Given the description of an element on the screen output the (x, y) to click on. 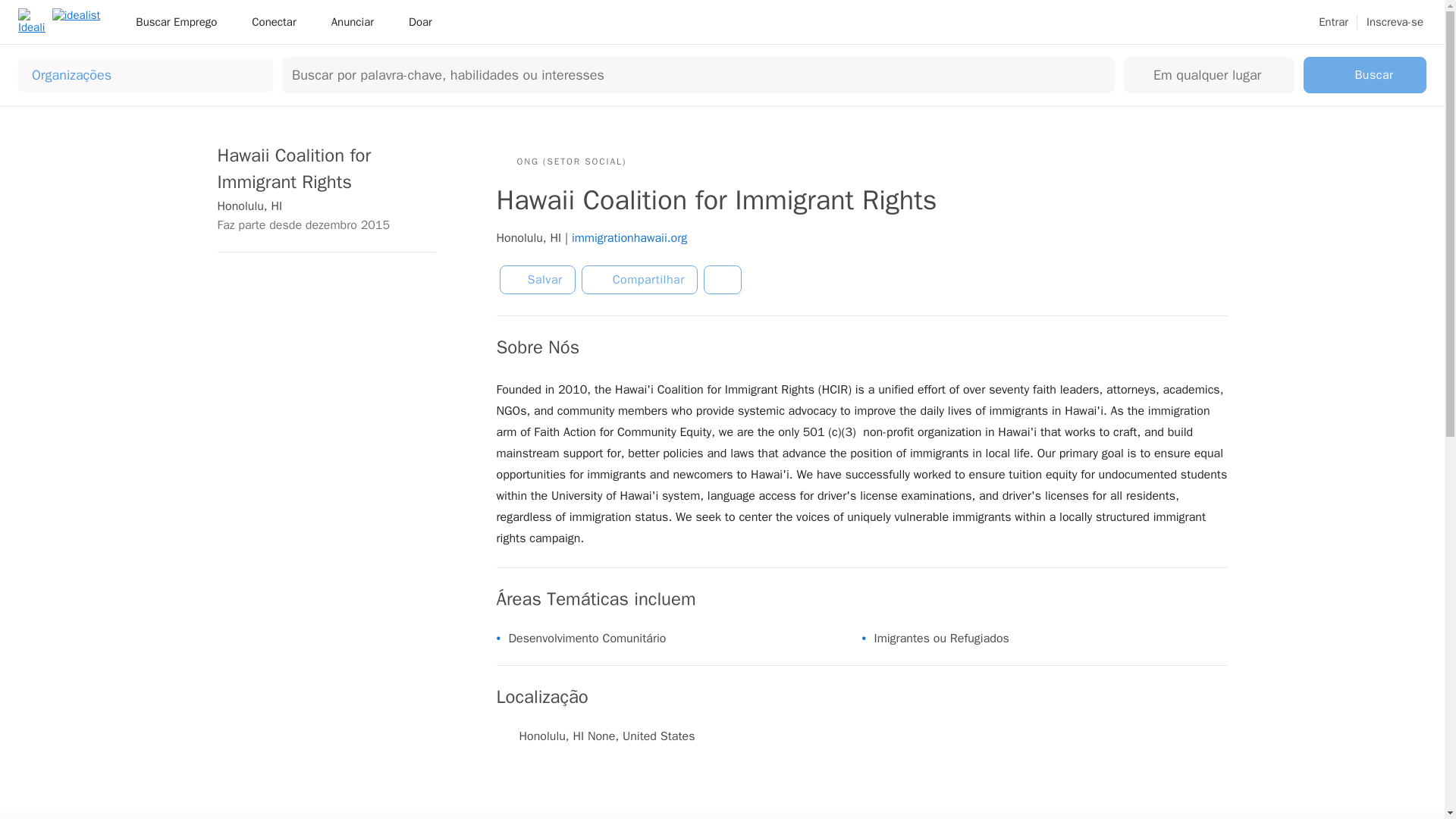
Doar (419, 21)
Inscreva-se (1394, 22)
immigrationhawaii.org (629, 237)
Salvar (537, 279)
Compartilhar (638, 279)
Buscar (1364, 74)
Salvar (537, 279)
Entrar (1333, 22)
